Given the description of an element on the screen output the (x, y) to click on. 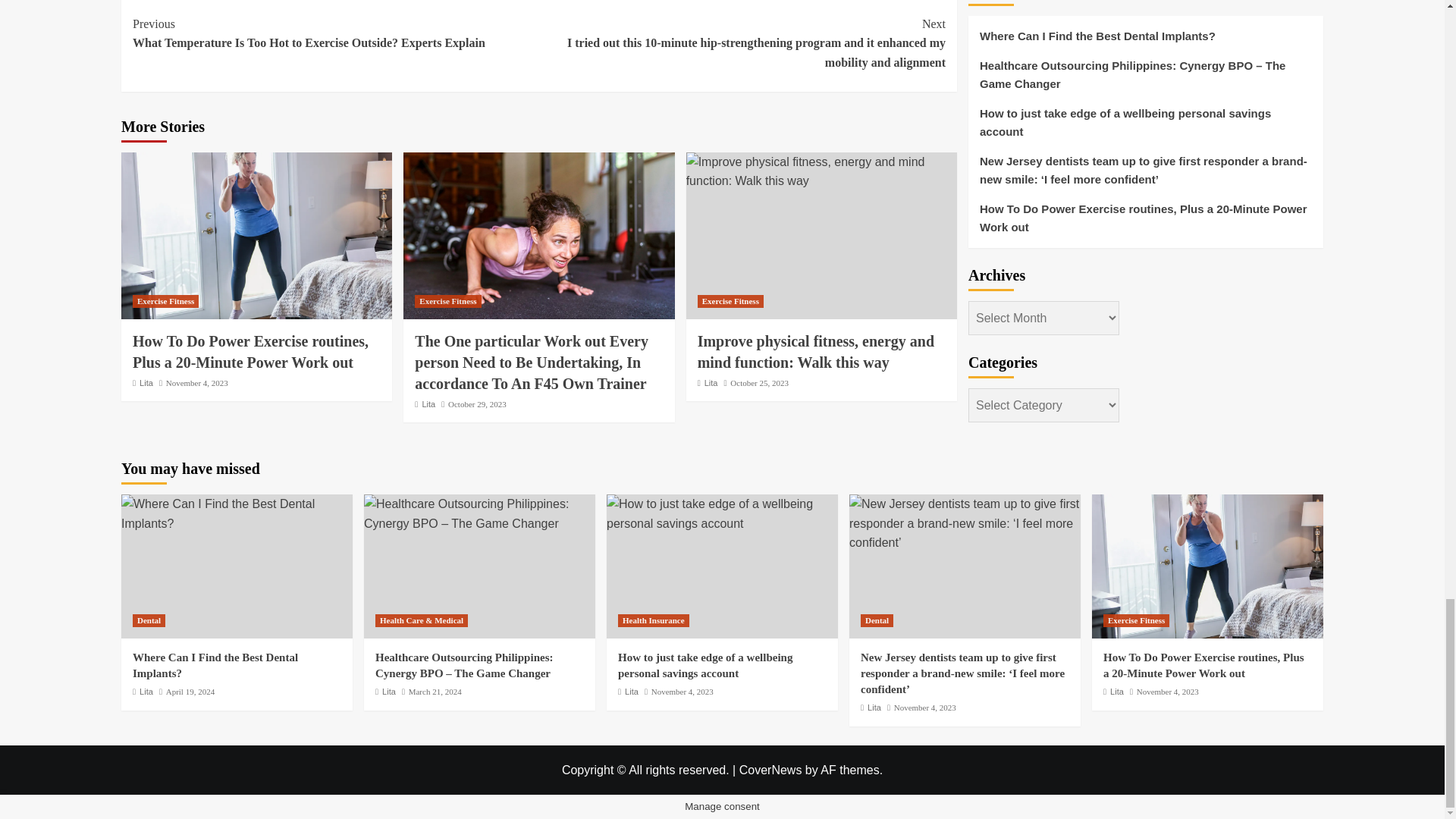
November 4, 2023 (196, 382)
Lita (428, 403)
Where Can I Find the Best Dental Implants? (236, 513)
Exercise Fitness (447, 300)
Lita (145, 382)
Exercise Fitness (165, 300)
